Given the description of an element on the screen output the (x, y) to click on. 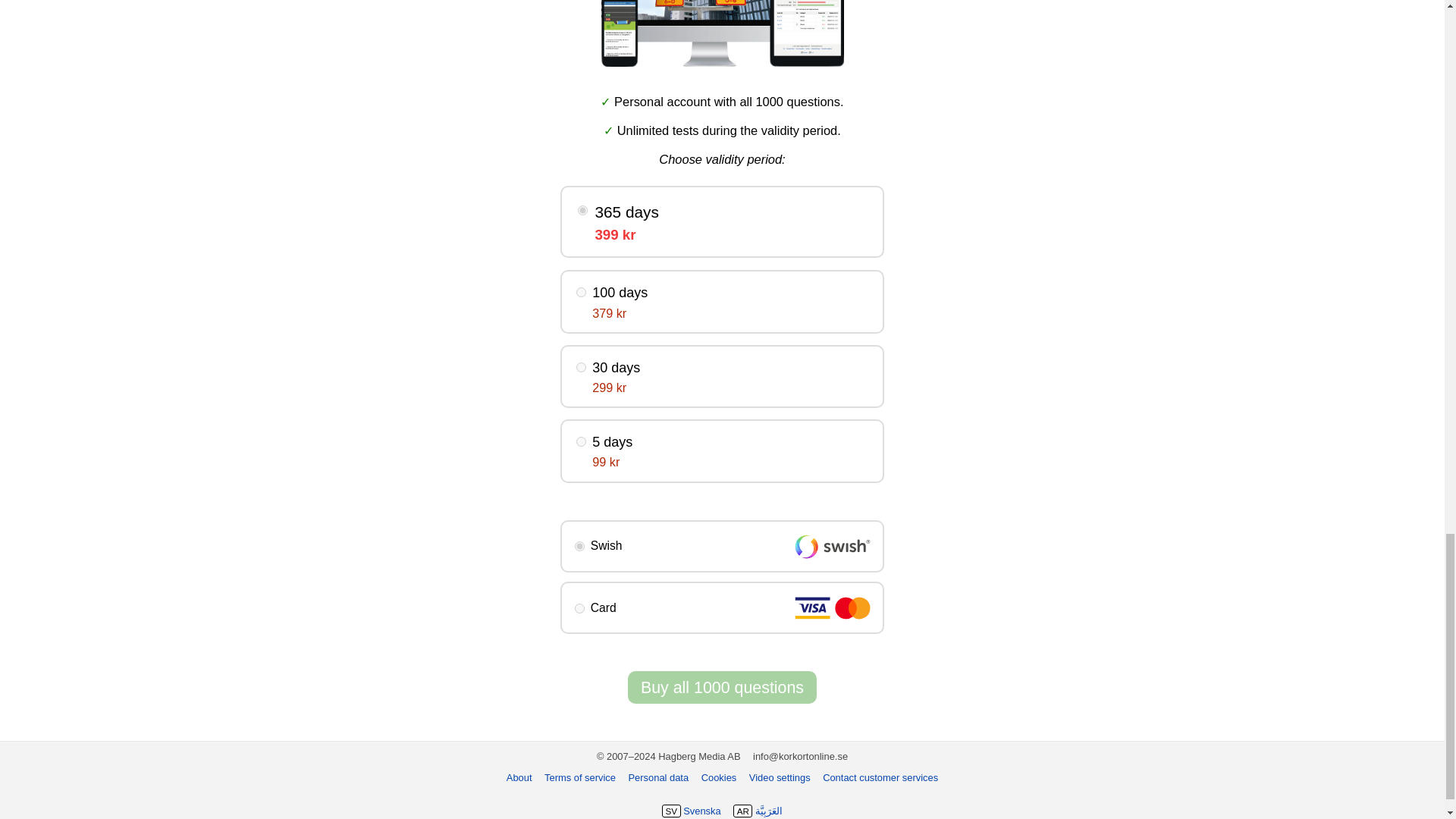
5 (581, 441)
365 (583, 210)
30 (581, 367)
100 (581, 292)
kort (580, 608)
About (519, 777)
Buy all 1000 questions (721, 686)
swish (580, 546)
